Given the description of an element on the screen output the (x, y) to click on. 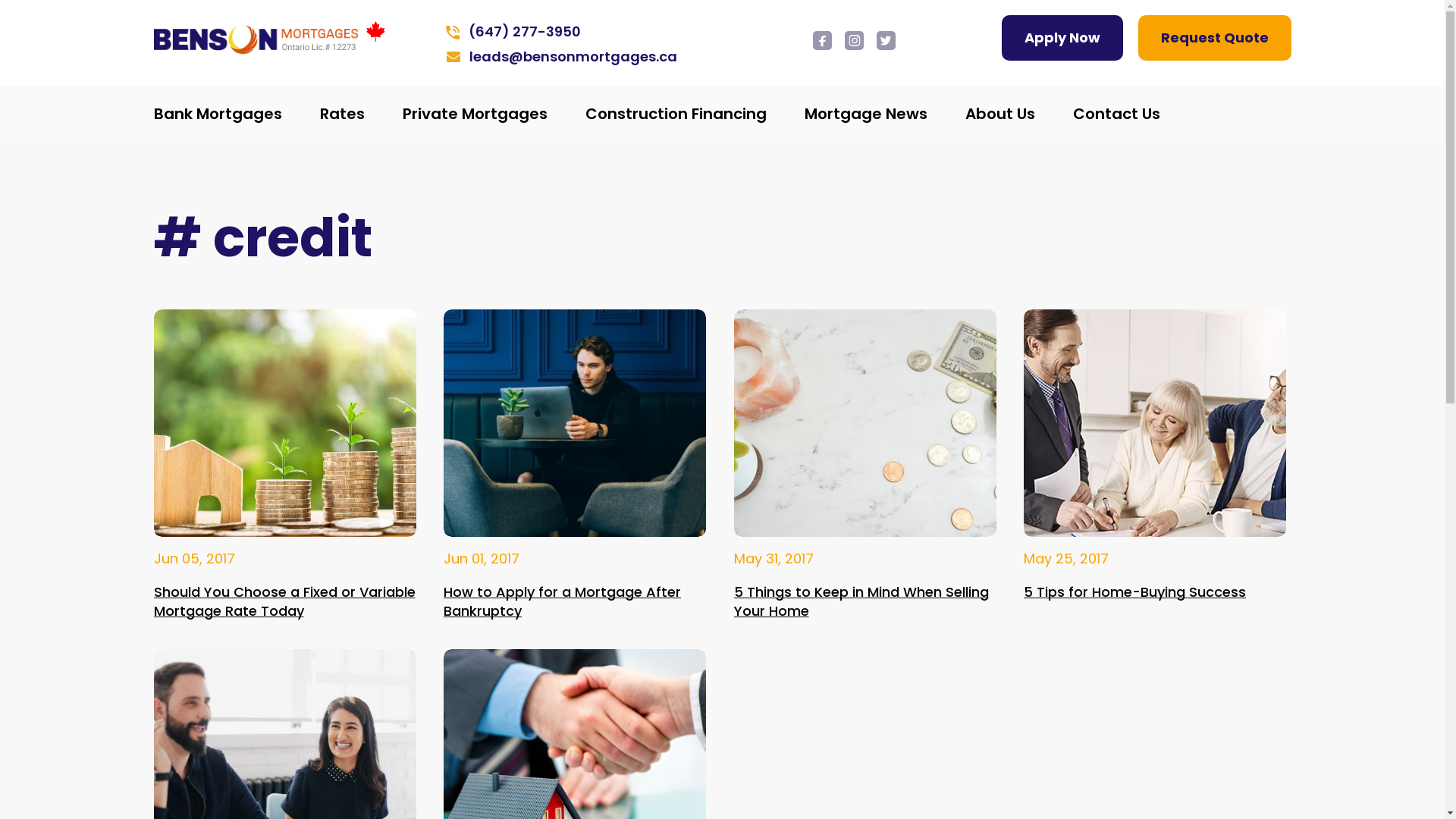
leads@bensonmortgages.ca Element type: text (560, 56)
5 Tips for Home-Buying Success Element type: text (1134, 591)
How to Apply for a Mortgage After Bankruptcy Element type: text (561, 601)
Rates Element type: text (342, 114)
Construction Financing Element type: text (675, 114)
Follow Us on Twitter Element type: hover (885, 40)
Request Quote Element type: text (1213, 37)
Follow Us on Instagram Element type: hover (853, 40)
Private Mortgages Element type: text (473, 114)
5 Things to Keep in Mind When Selling Your Home Element type: text (861, 601)
Contact Us Element type: text (1115, 114)
About Us Element type: text (999, 114)
Apply Now Element type: text (1061, 37)
Mortgage News Element type: text (864, 114)
(647) 277-3950 Element type: text (511, 32)
Benson Mortgages Element type: hover (255, 40)
Follow Us on Facebook Element type: hover (821, 40)
Bank Mortgages Element type: text (217, 114)
Should You Choose a Fixed or Variable Mortgage Rate Today Element type: text (283, 601)
